Given the description of an element on the screen output the (x, y) to click on. 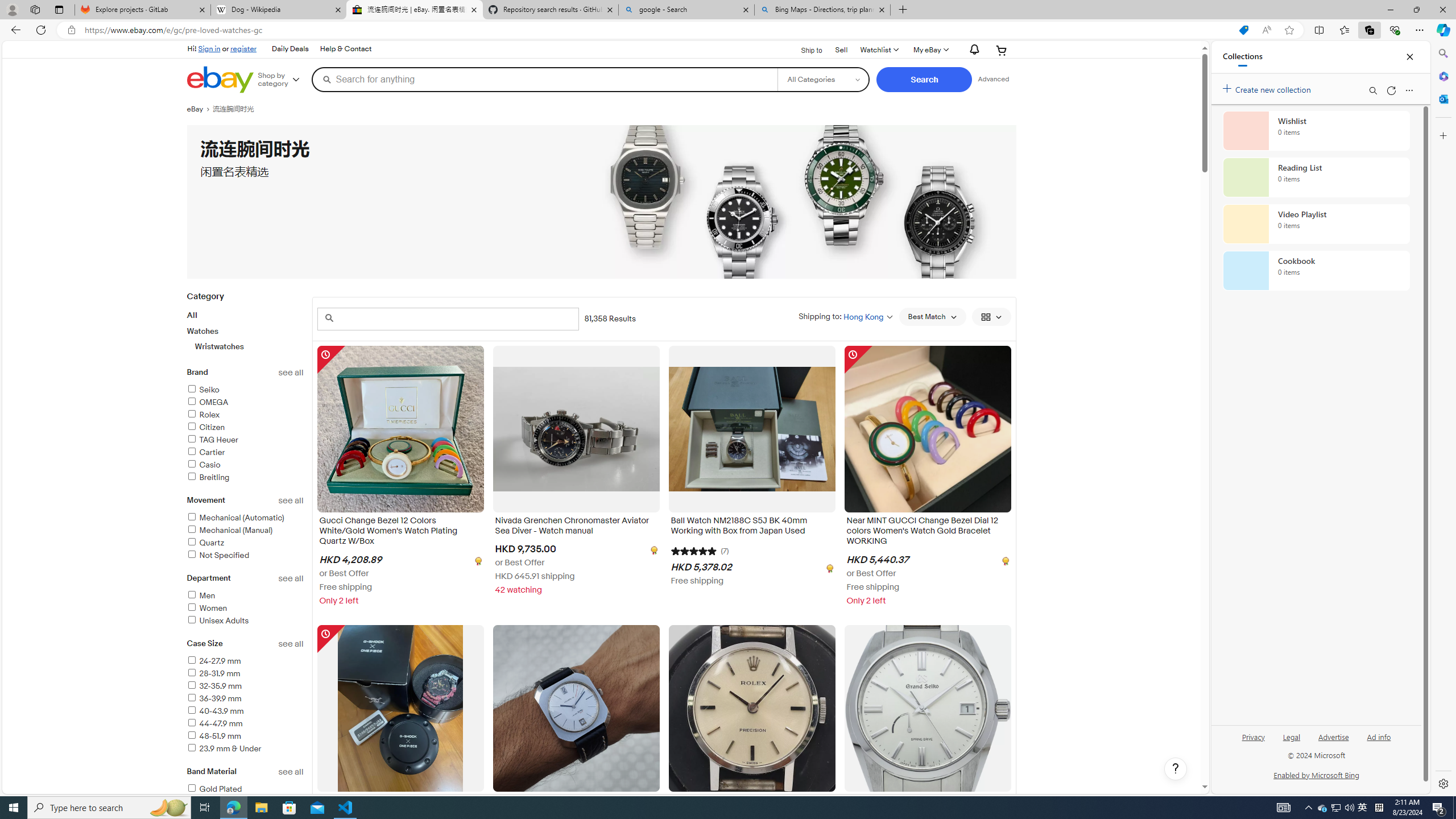
23.9 mm & Under (224, 748)
OMEGA (245, 402)
Ship to (804, 49)
TAG Heuer (245, 439)
Men (245, 596)
See all band material refinements (291, 771)
Shipping to: Hong Kong (845, 316)
Women (245, 608)
Watchlist (878, 49)
